Given the description of an element on the screen output the (x, y) to click on. 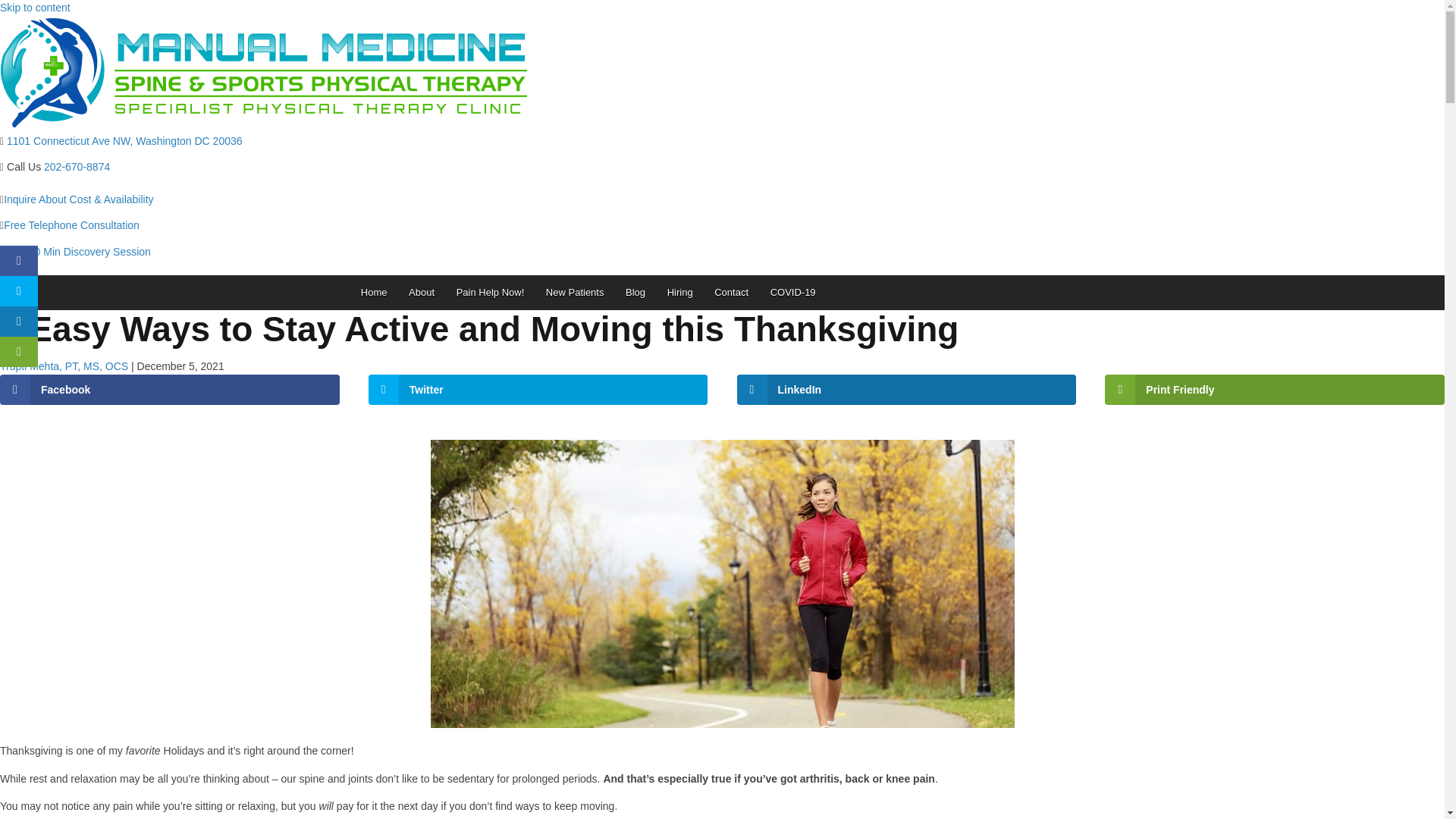
1101 Connecticut Ave NW, Washington DC 20036 (125, 141)
About (421, 292)
202-670-8874 (76, 166)
Free Telephone Consultation (71, 224)
Trupti Mehta, PT, MS, OCS (64, 366)
New Patients (574, 292)
Contact (730, 292)
Twitter (537, 389)
Hiring (679, 292)
Home (373, 292)
Skip to content (34, 7)
Blog (635, 292)
COVID-19 (792, 292)
Facebook (169, 389)
Pain Help Now! (489, 292)
